Given the description of an element on the screen output the (x, y) to click on. 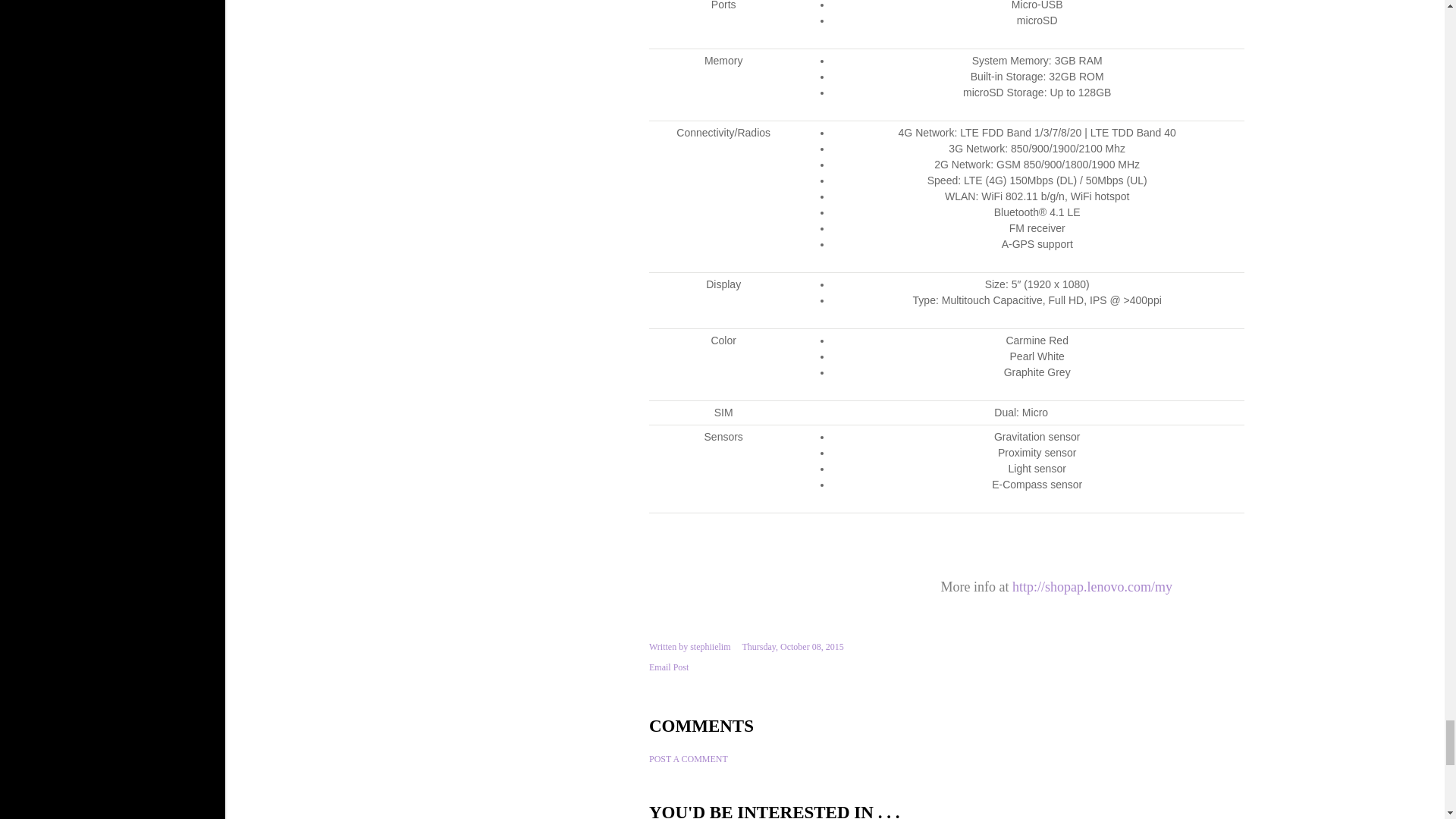
author profile (710, 646)
permanent link (792, 646)
